Given the description of an element on the screen output the (x, y) to click on. 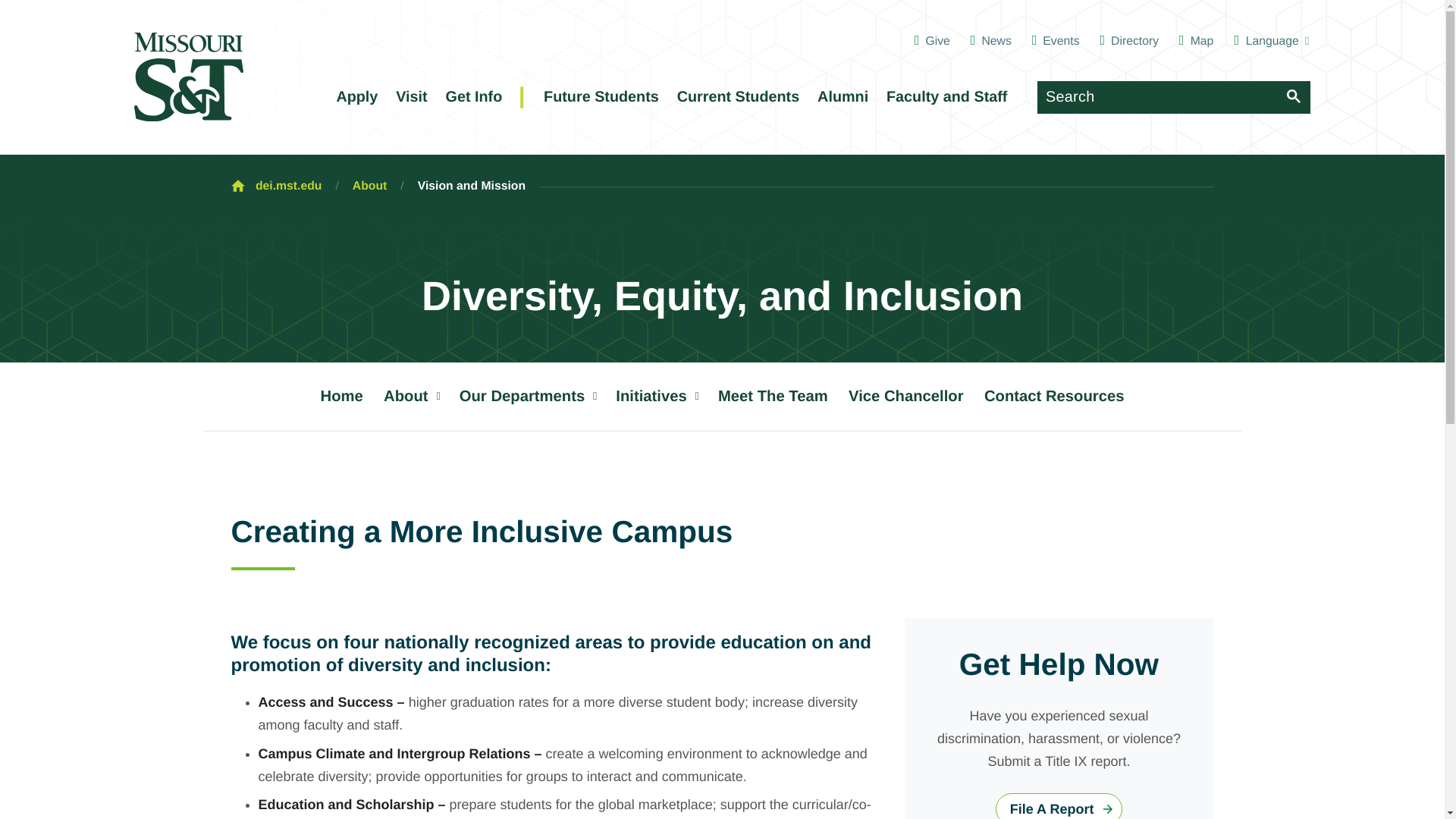
Directory (1128, 41)
Get Info (473, 96)
Alumni (841, 97)
Future Students (601, 97)
Faculty and Staff (946, 97)
Current Students (738, 97)
Apply (356, 97)
Creating a More Inclusive Campus (721, 538)
Events (1056, 41)
dei.mst.edu (288, 186)
